Given the description of an element on the screen output the (x, y) to click on. 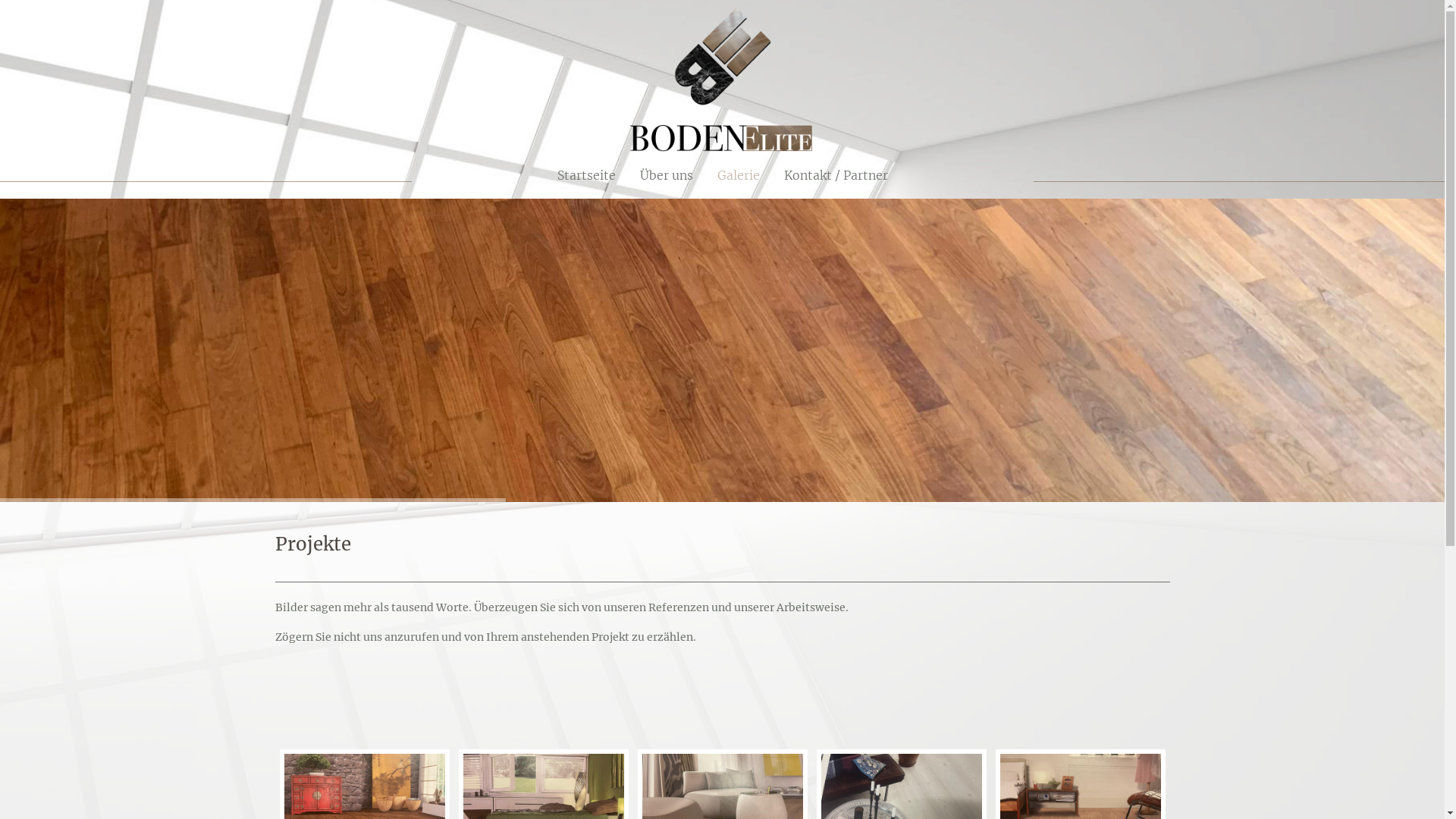
Kontakt / Partner Element type: text (841, 174)
Startseite Element type: text (579, 174)
Galerie Element type: text (738, 174)
